Given the description of an element on the screen output the (x, y) to click on. 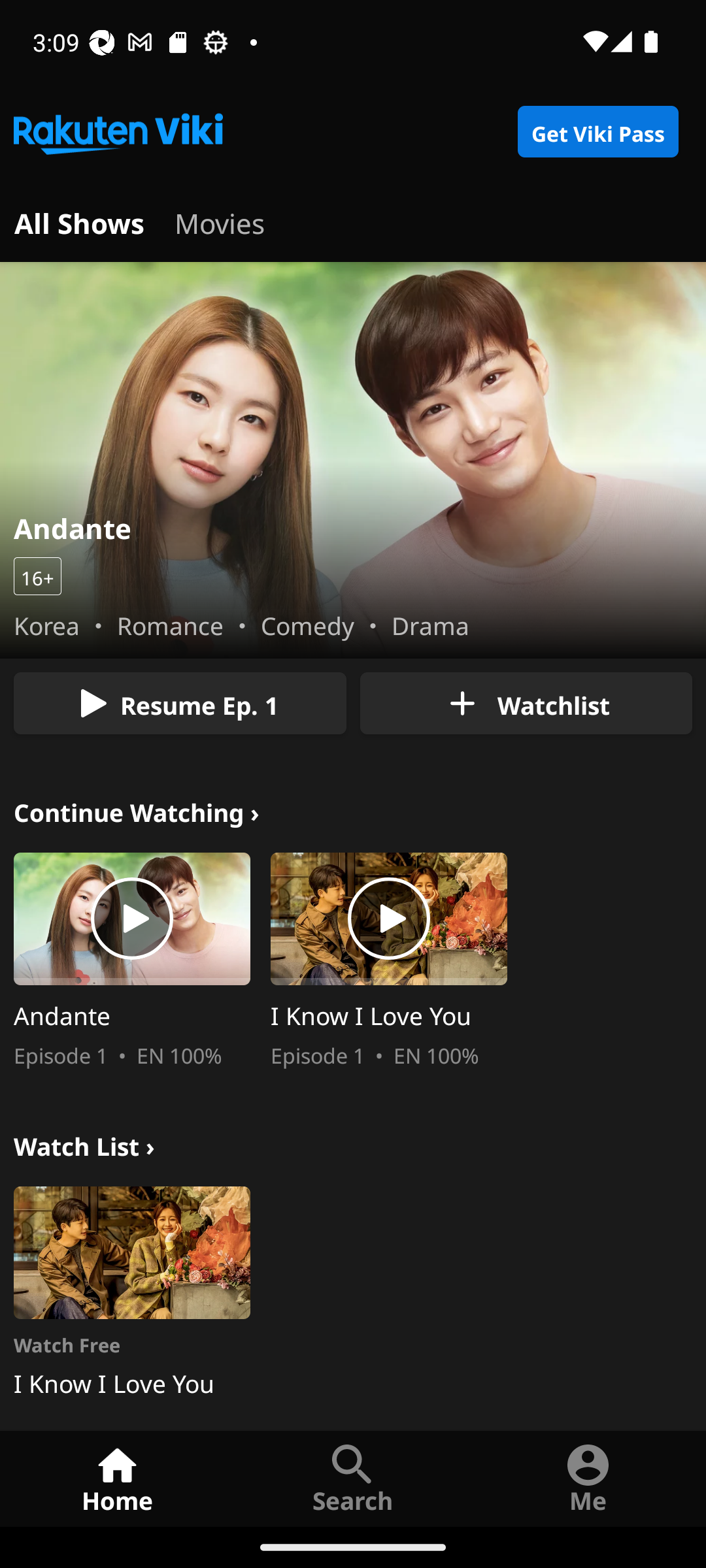
Get Viki Pass (597, 131)
home_tab_movies Movies (219, 220)
Resume Ep. 1 home_billboard_play_button (179, 702)
Watchlist home_billboard_add_to_watchlist_button (526, 702)
Continue Watching › continue_watching (136, 809)
Watch List › watch_list (84, 1143)
Search (352, 1478)
Me (588, 1478)
